Given the description of an element on the screen output the (x, y) to click on. 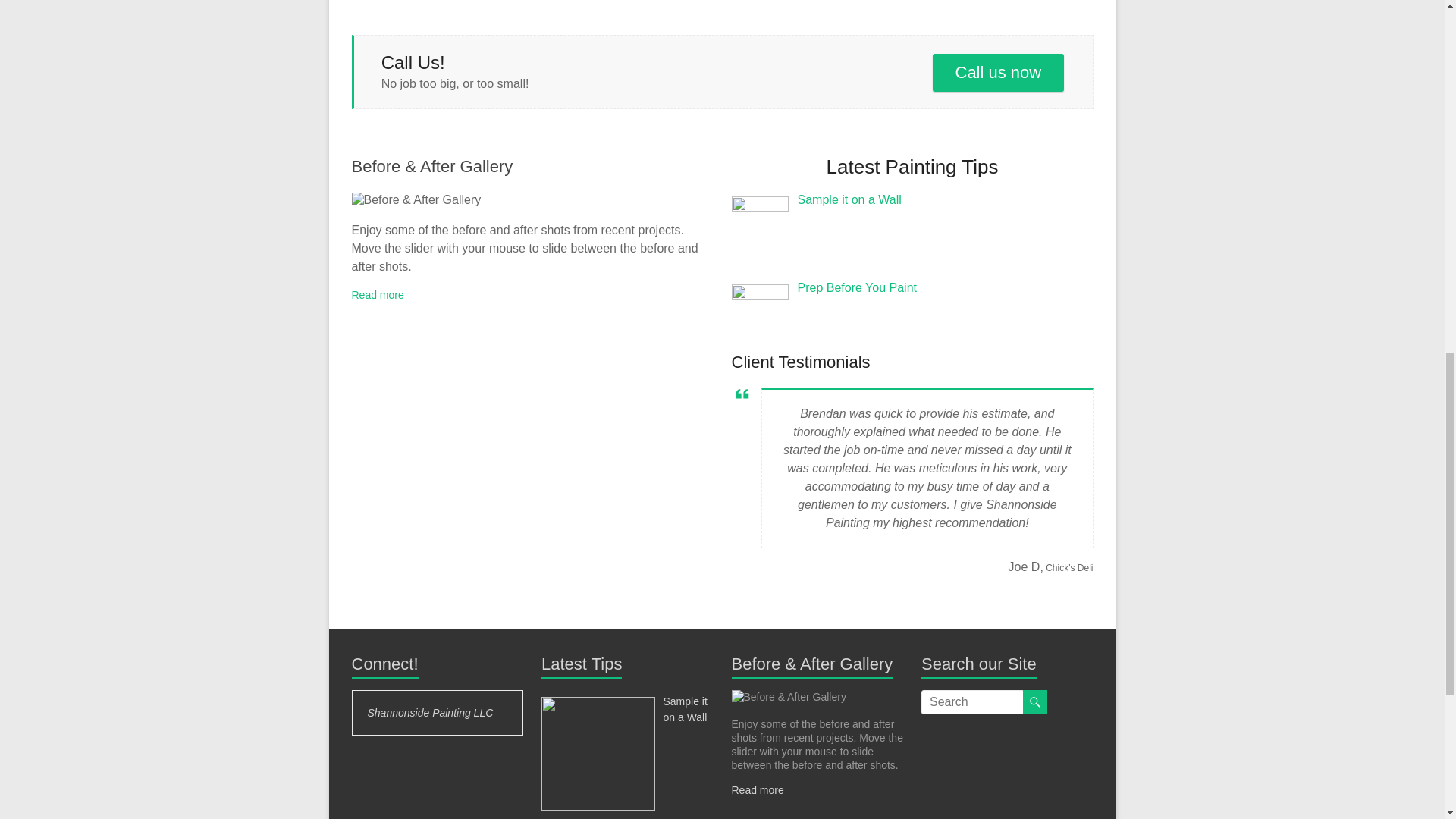
Sample it on a Wall (849, 199)
Call us now (998, 72)
Sample it on a Wall (684, 709)
Call us now (998, 72)
Read more (756, 789)
Read more (378, 295)
Shannonside Painting LLC (429, 712)
Prep Before You Paint (857, 287)
